Given the description of an element on the screen output the (x, y) to click on. 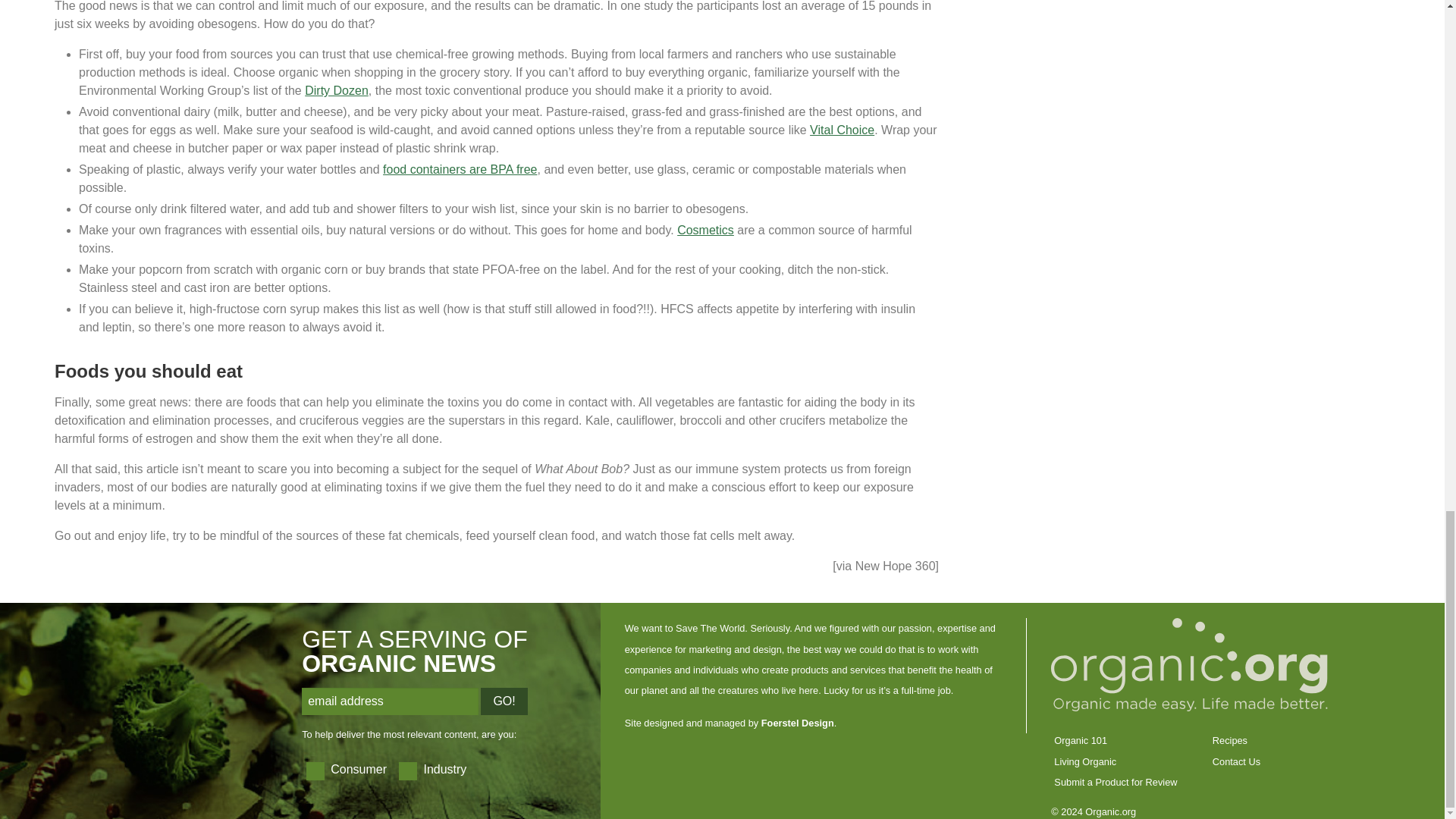
Contact Us (1236, 761)
Dirty Dozen (336, 90)
Living Organic (1085, 761)
Submit a Product for Review (1115, 781)
Organic 101 (1080, 740)
food containers are BPA free (459, 169)
GO! (503, 700)
Vital Choice (842, 129)
Cosmetics (705, 229)
Recipes (1229, 740)
Foerstel Design (797, 722)
